Given the description of an element on the screen output the (x, y) to click on. 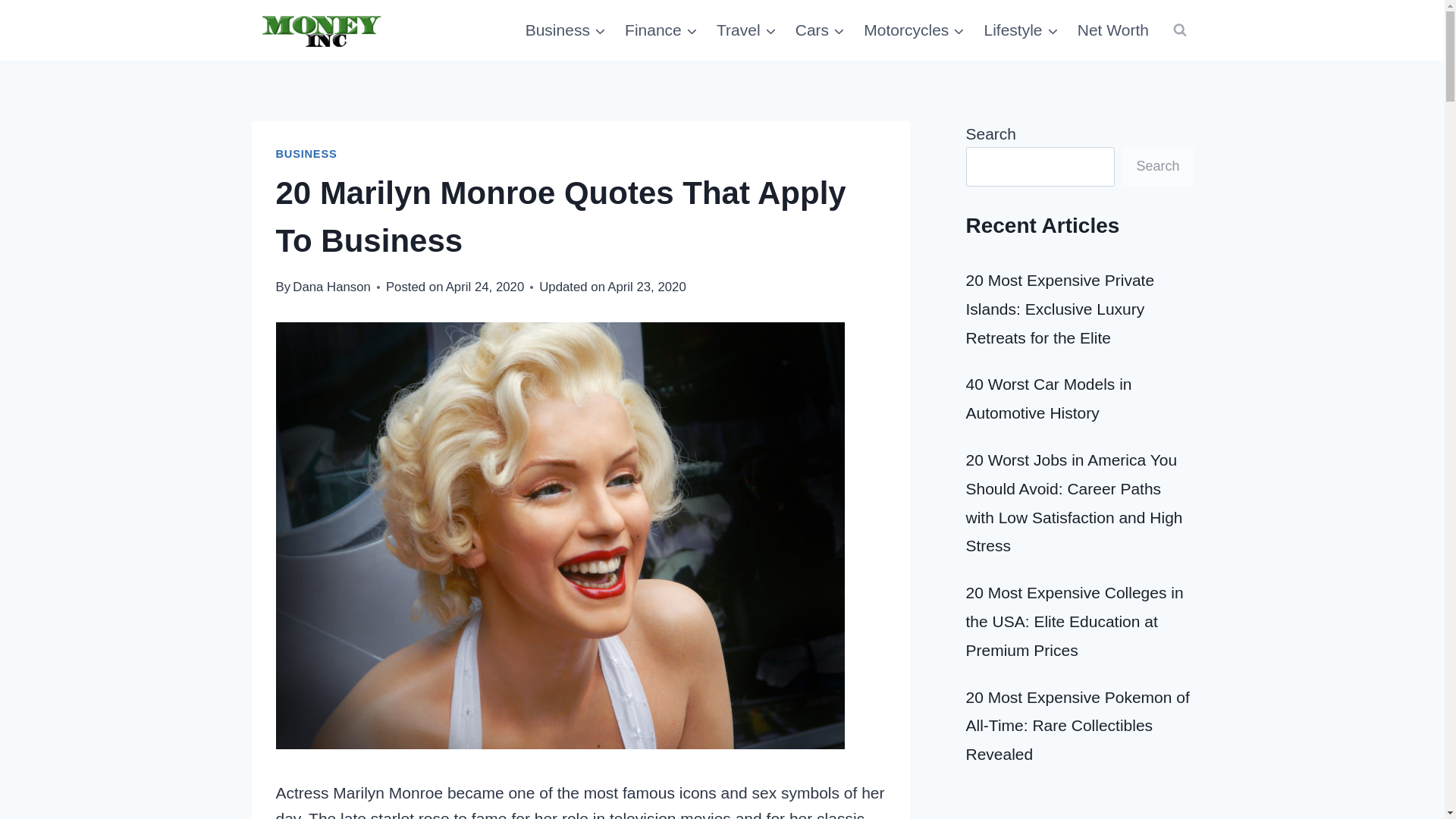
Travel (746, 30)
Finance (661, 30)
Business (564, 30)
Cars (820, 30)
